Given the description of an element on the screen output the (x, y) to click on. 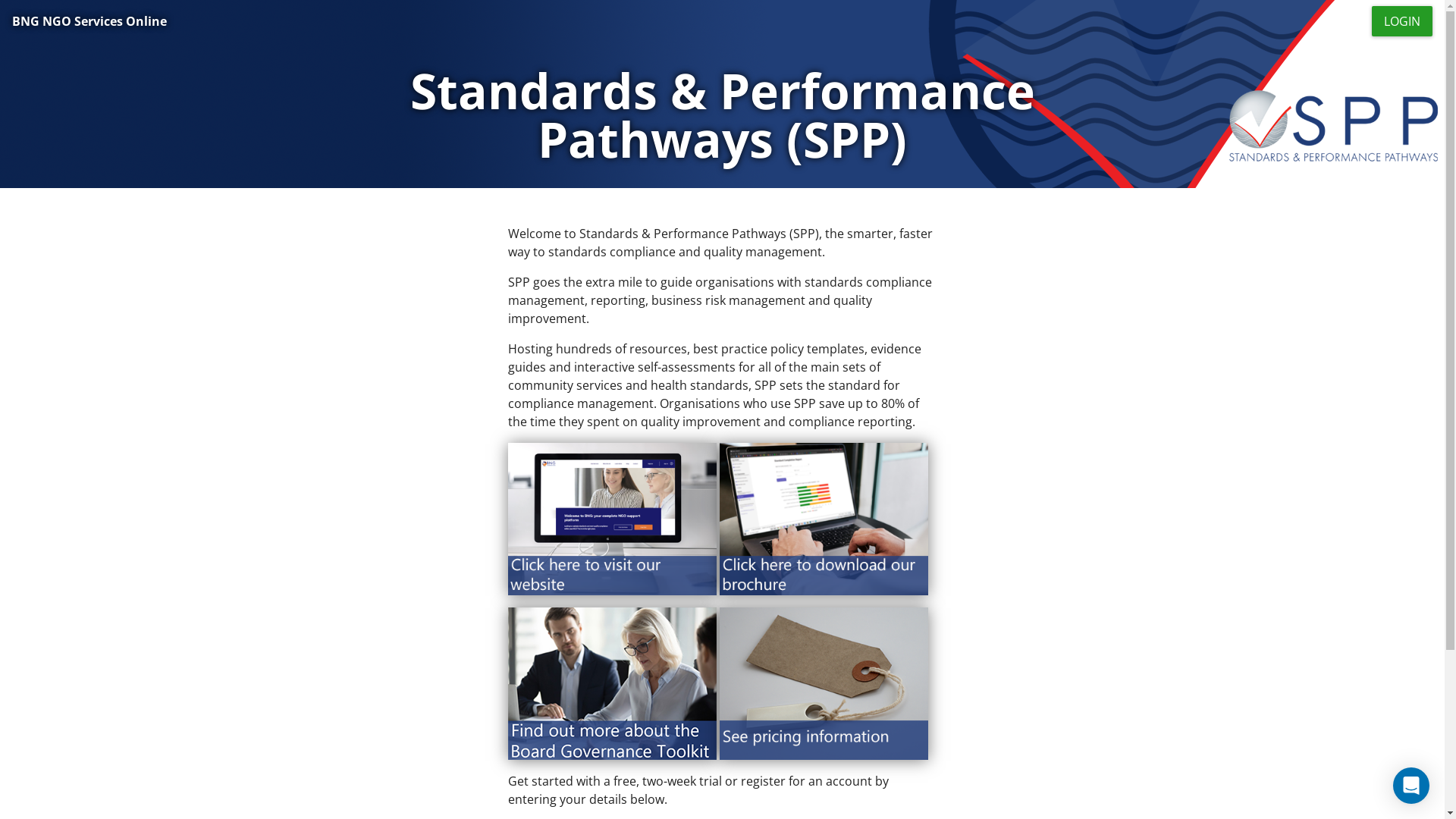
LOGIN Element type: text (1401, 21)
BNG NGO Services Online Element type: text (89, 21)
